Given the description of an element on the screen output the (x, y) to click on. 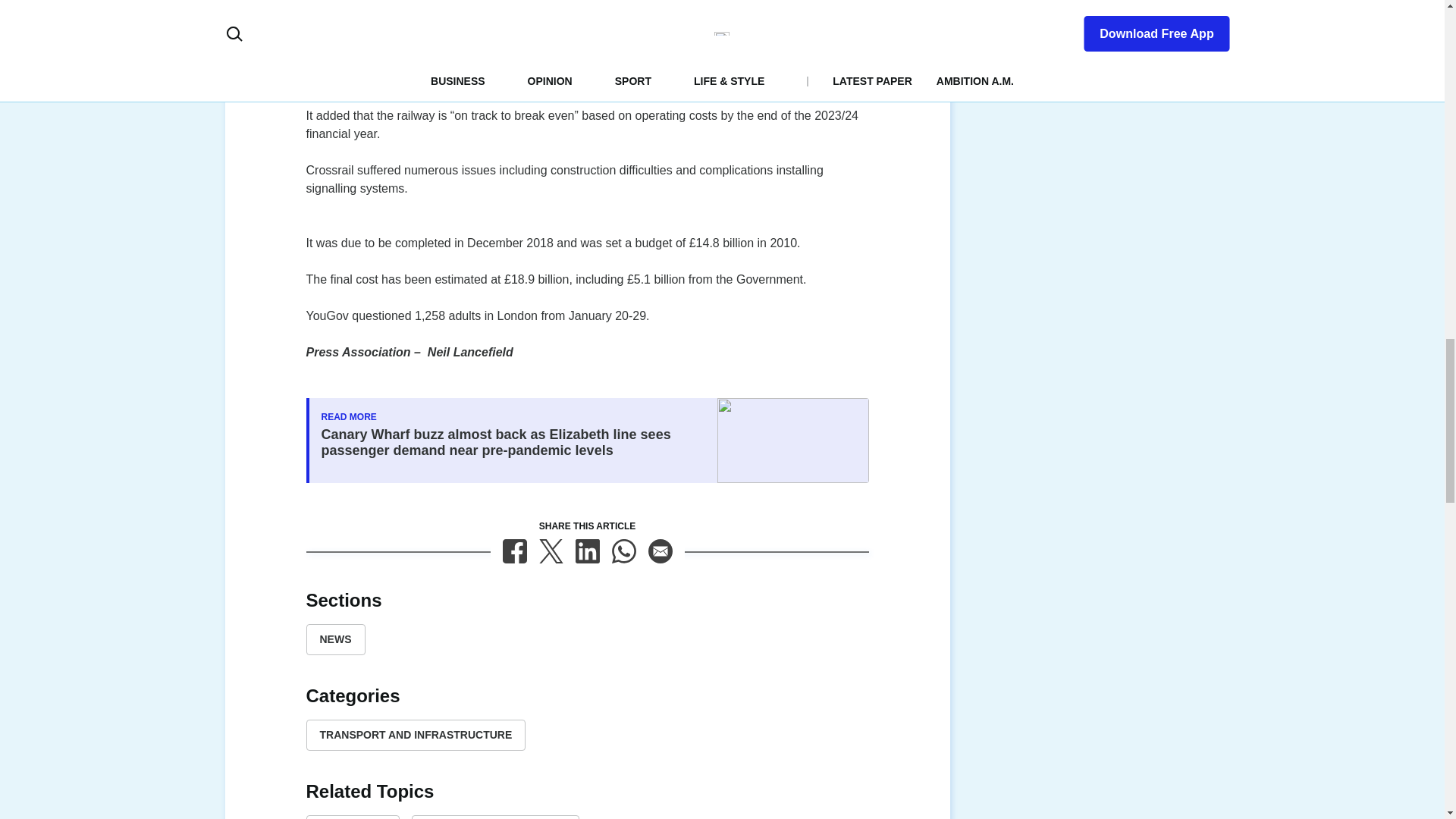
WhatsApp (622, 550)
X (550, 550)
LinkedIn (586, 550)
Facebook (513, 550)
Email (659, 550)
